Given the description of an element on the screen output the (x, y) to click on. 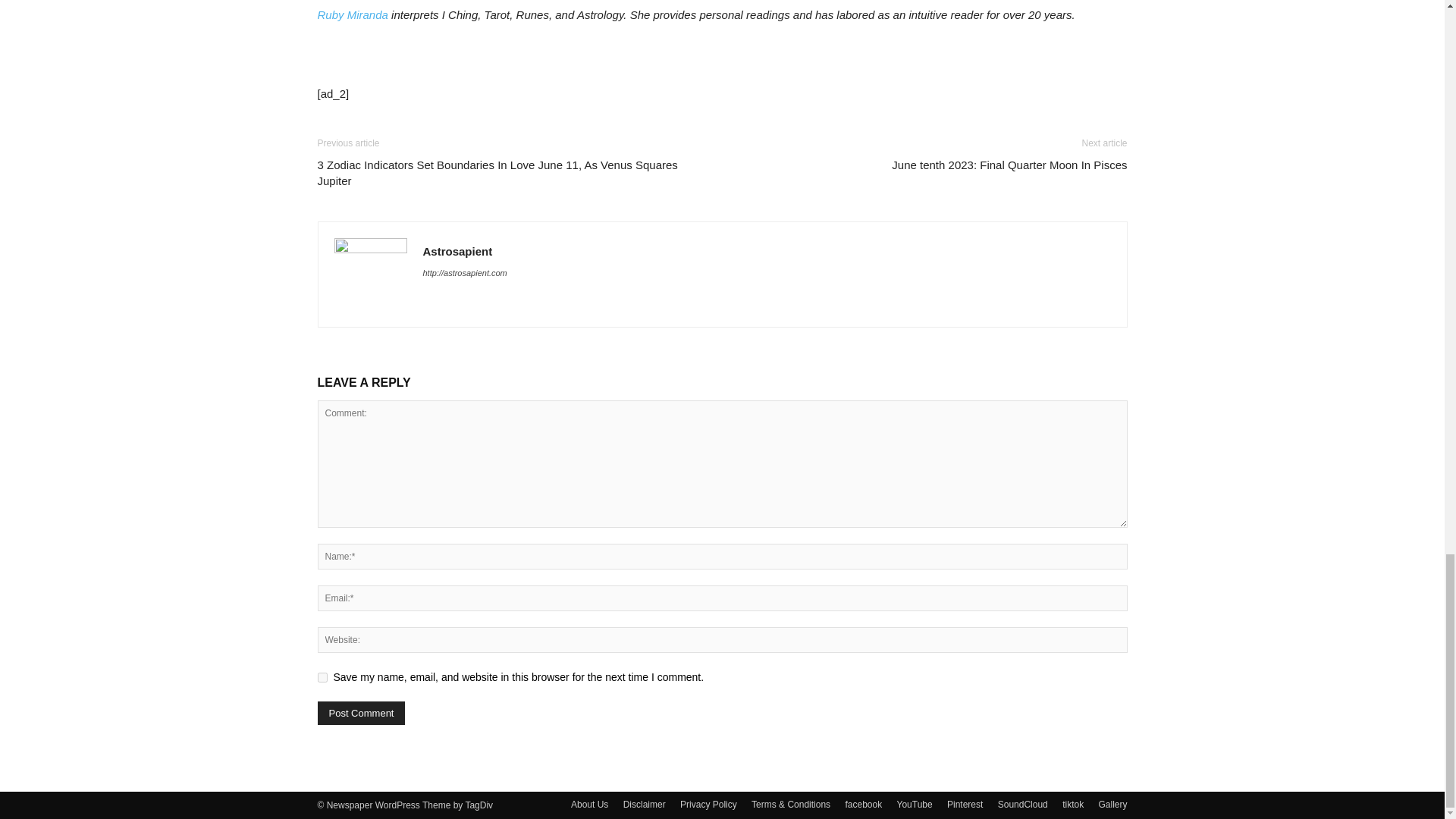
Post Comment (360, 712)
SoundCloud (1022, 804)
Ruby Miranda (352, 14)
About Us (589, 804)
Post Comment (360, 712)
Astrosapient (458, 250)
Pinterest (964, 804)
Disclaimer (644, 804)
Gallery (1111, 804)
June tenth 2023: Final Quarter Moon In Pisces (1008, 164)
tiktok (1072, 804)
yes (321, 677)
Privacy Policy (707, 804)
YouTube (914, 804)
facebook (863, 804)
